Given the description of an element on the screen output the (x, y) to click on. 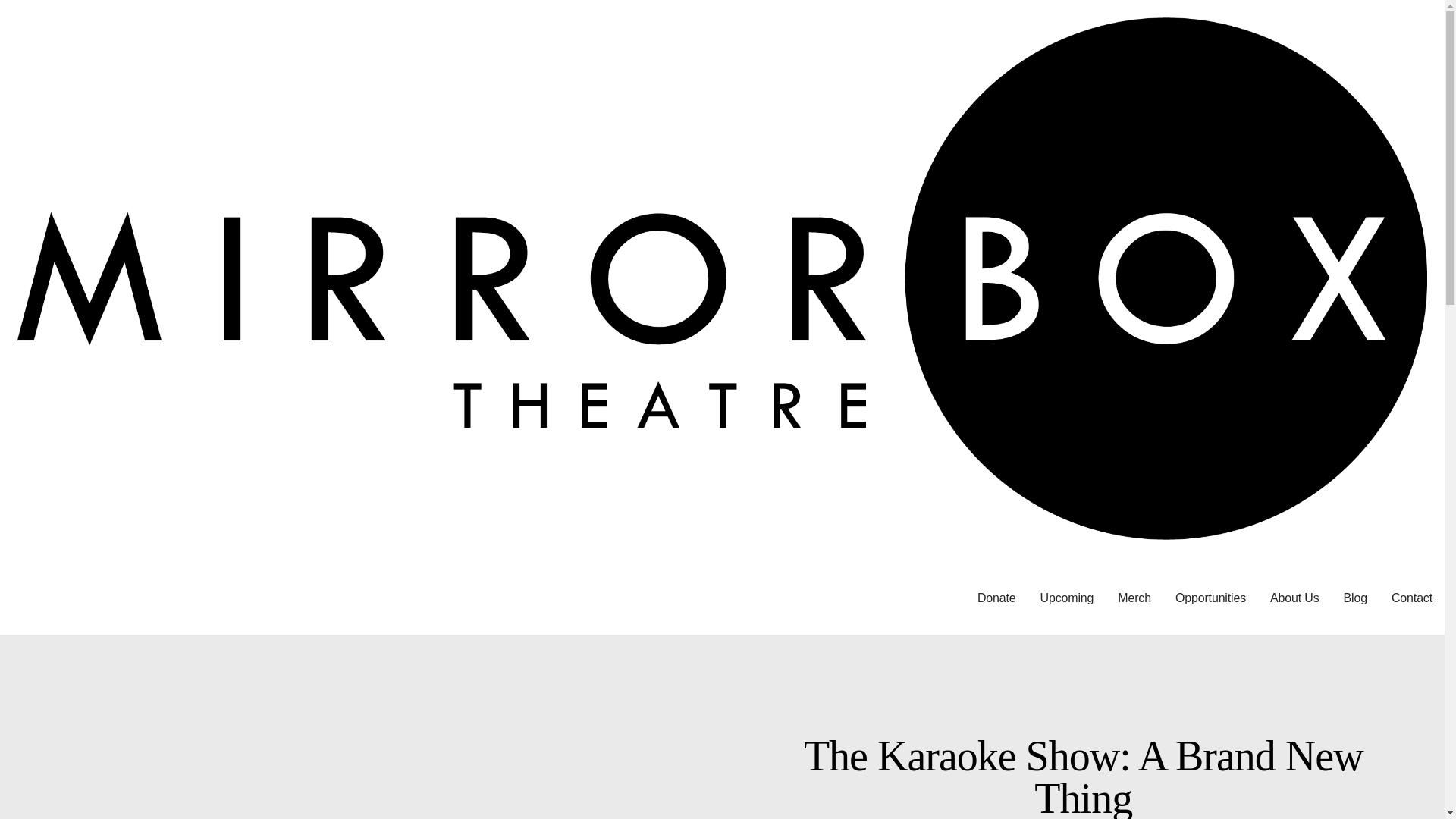
Upcoming (1066, 598)
About Us (1294, 598)
Opportunities (1210, 598)
